Given the description of an element on the screen output the (x, y) to click on. 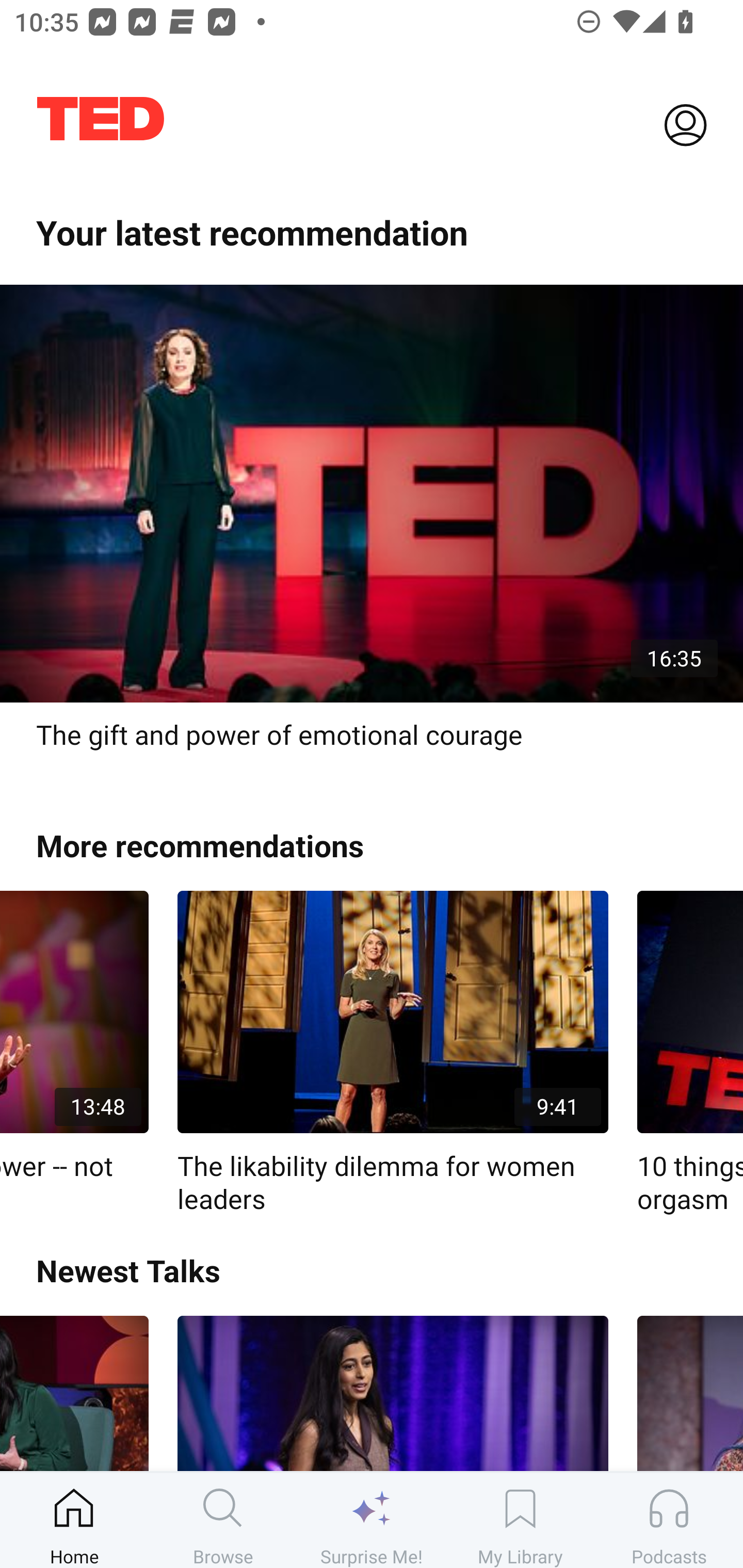
9:41 The likability dilemma for women leaders (392, 1053)
Home (74, 1520)
Browse (222, 1520)
Surprise Me! (371, 1520)
My Library (519, 1520)
Podcasts (668, 1520)
